Given the description of an element on the screen output the (x, y) to click on. 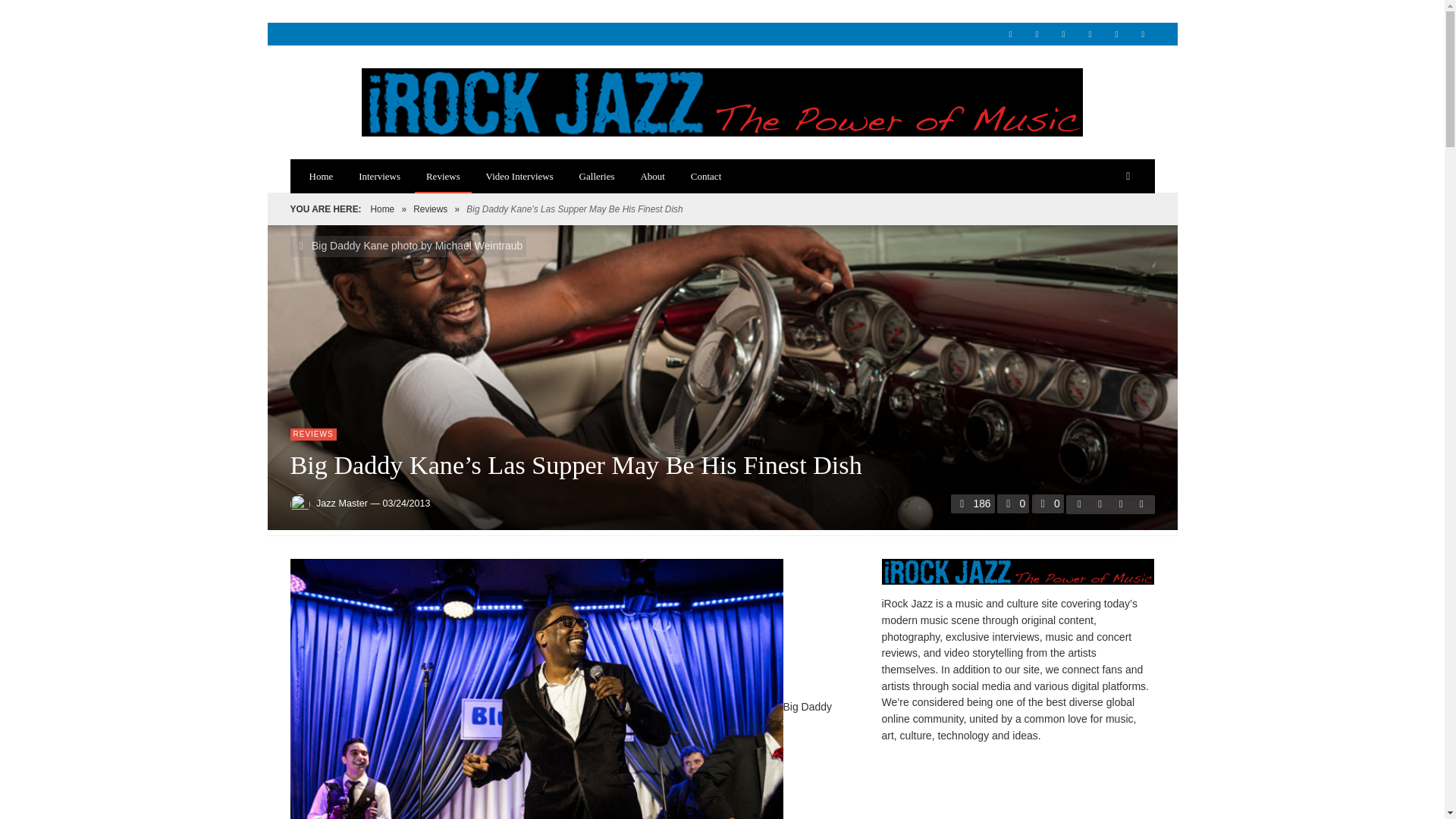
Galleries (596, 175)
Youtube (1142, 33)
Home (381, 208)
Share on Facebook (1078, 503)
Reviews (442, 175)
Reviews (429, 208)
Share on Pinterest (1141, 503)
Twitter (1116, 33)
View all posts by Jazz Master (341, 503)
View all posts in Reviews (312, 434)
Contact (705, 175)
Reviews (429, 208)
0 (1048, 503)
0 (1013, 503)
Facebook (1010, 33)
